Given the description of an element on the screen output the (x, y) to click on. 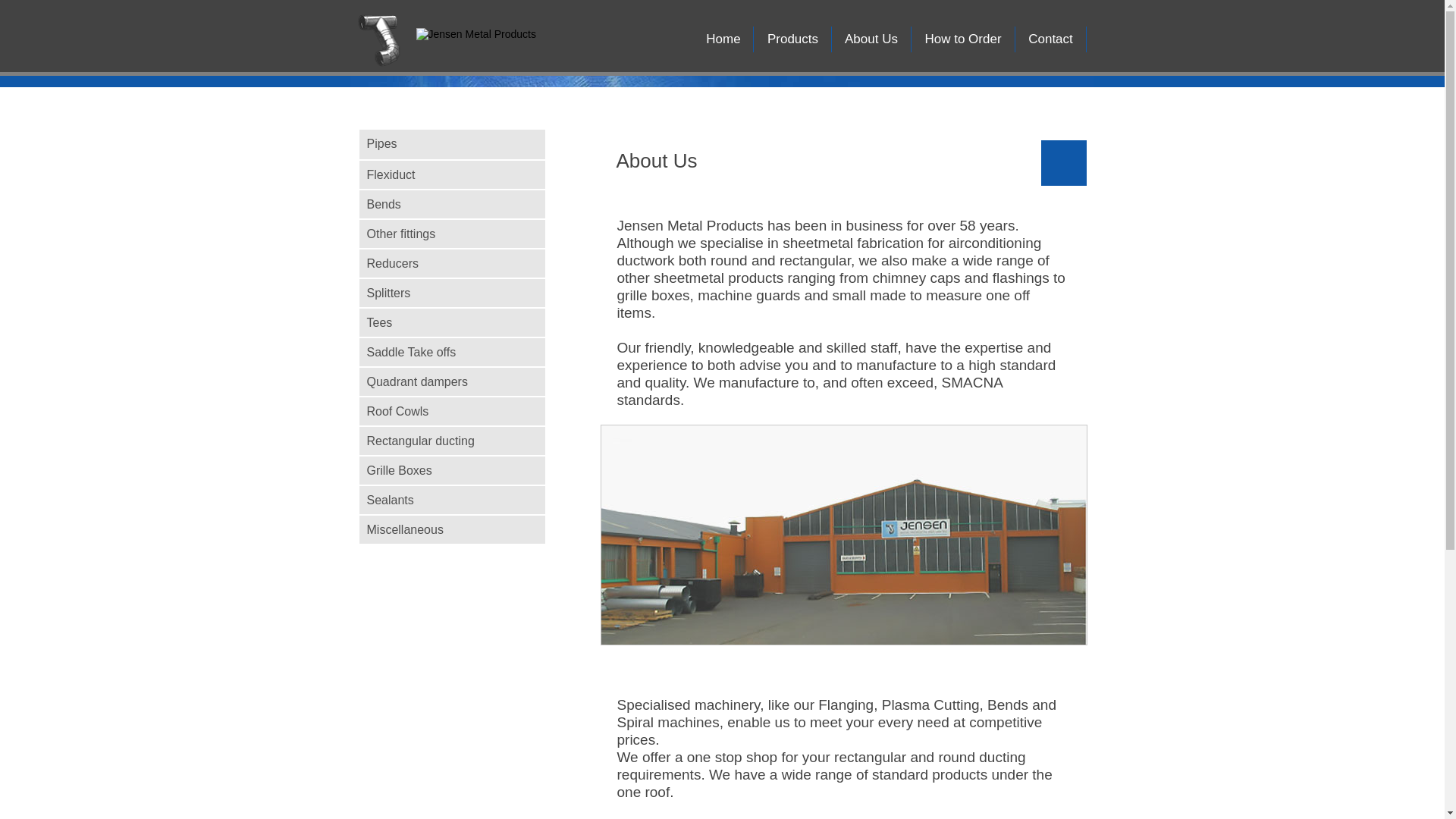
Products (793, 39)
About Us (871, 39)
How to Order (963, 39)
Home (724, 39)
Contact (1051, 39)
